Given the description of an element on the screen output the (x, y) to click on. 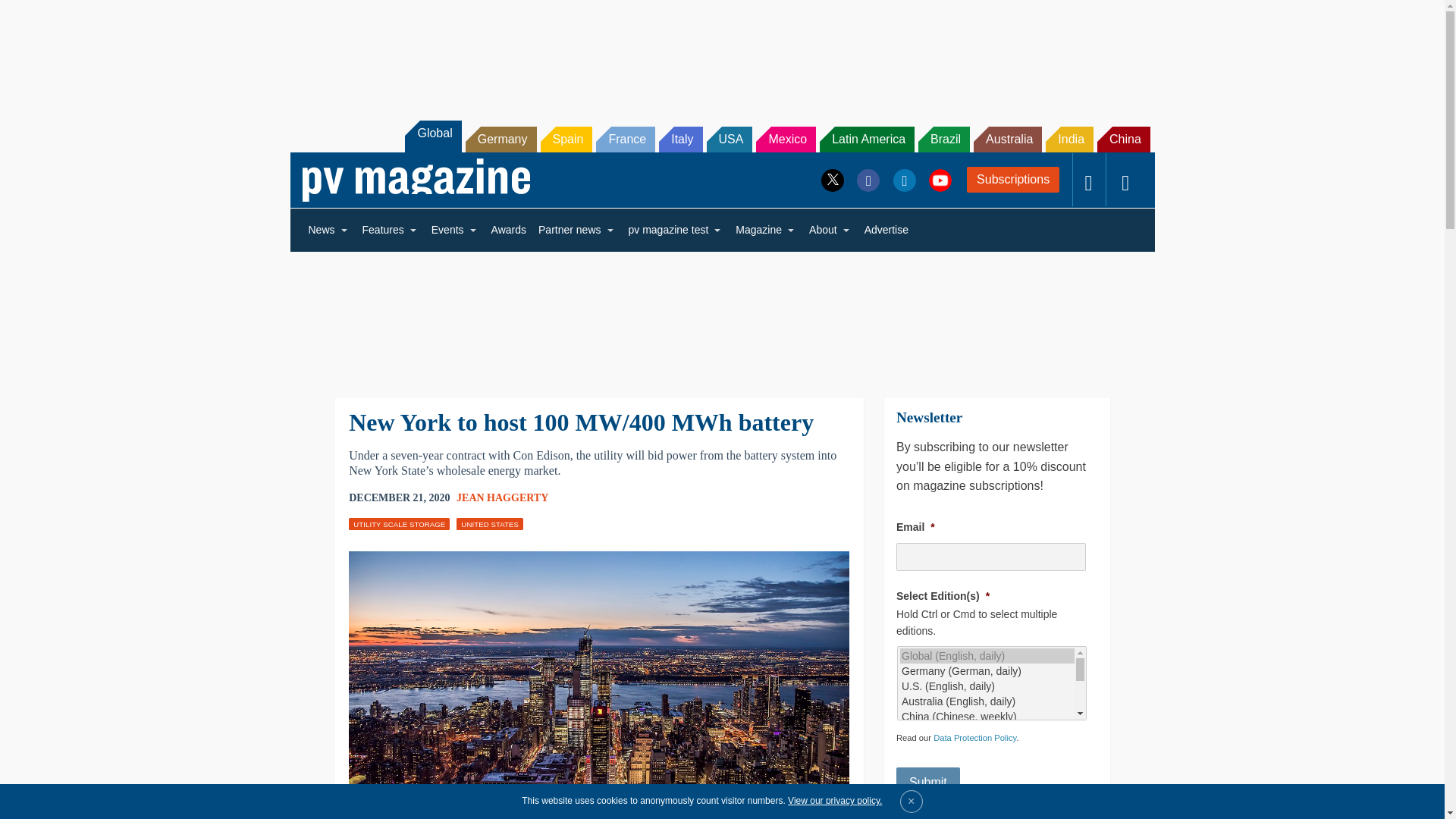
China (1123, 139)
Subscriptions (1012, 179)
Australia (1008, 139)
Global (432, 136)
pv magazine - Photovoltaics Markets and Technology (415, 180)
Monday, December 21, 2020, 6:29 am (399, 497)
Germany (501, 139)
Italy (680, 139)
3rd party ad content (721, 314)
USA (729, 139)
3rd party ad content (721, 51)
Submit (927, 782)
Mexico (785, 139)
India (1069, 139)
Search (32, 15)
